Given the description of an element on the screen output the (x, y) to click on. 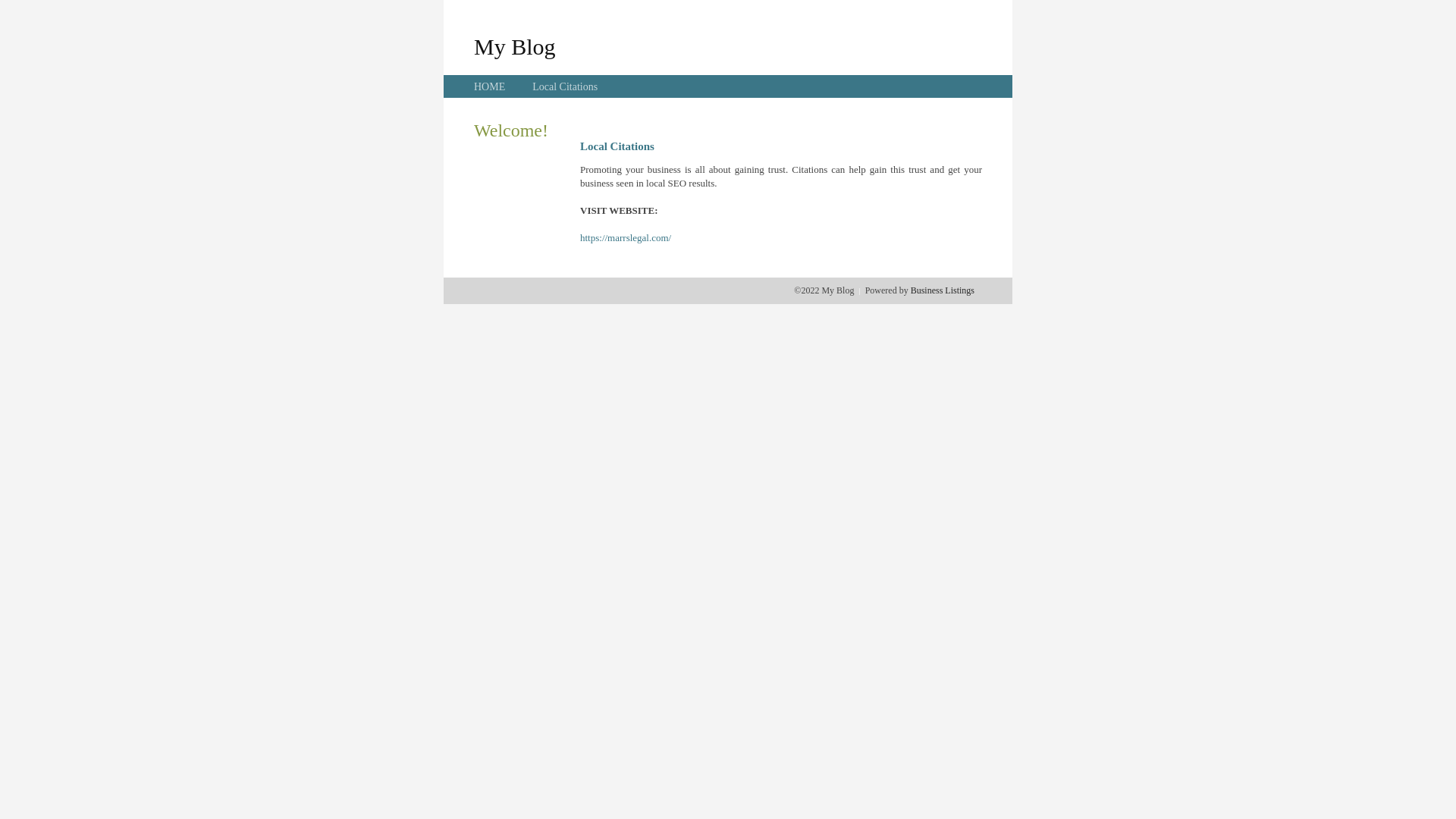
Local Citations Element type: text (564, 86)
https://marrslegal.com/ Element type: text (625, 237)
My Blog Element type: text (514, 46)
HOME Element type: text (489, 86)
Business Listings Element type: text (942, 290)
